Given the description of an element on the screen output the (x, y) to click on. 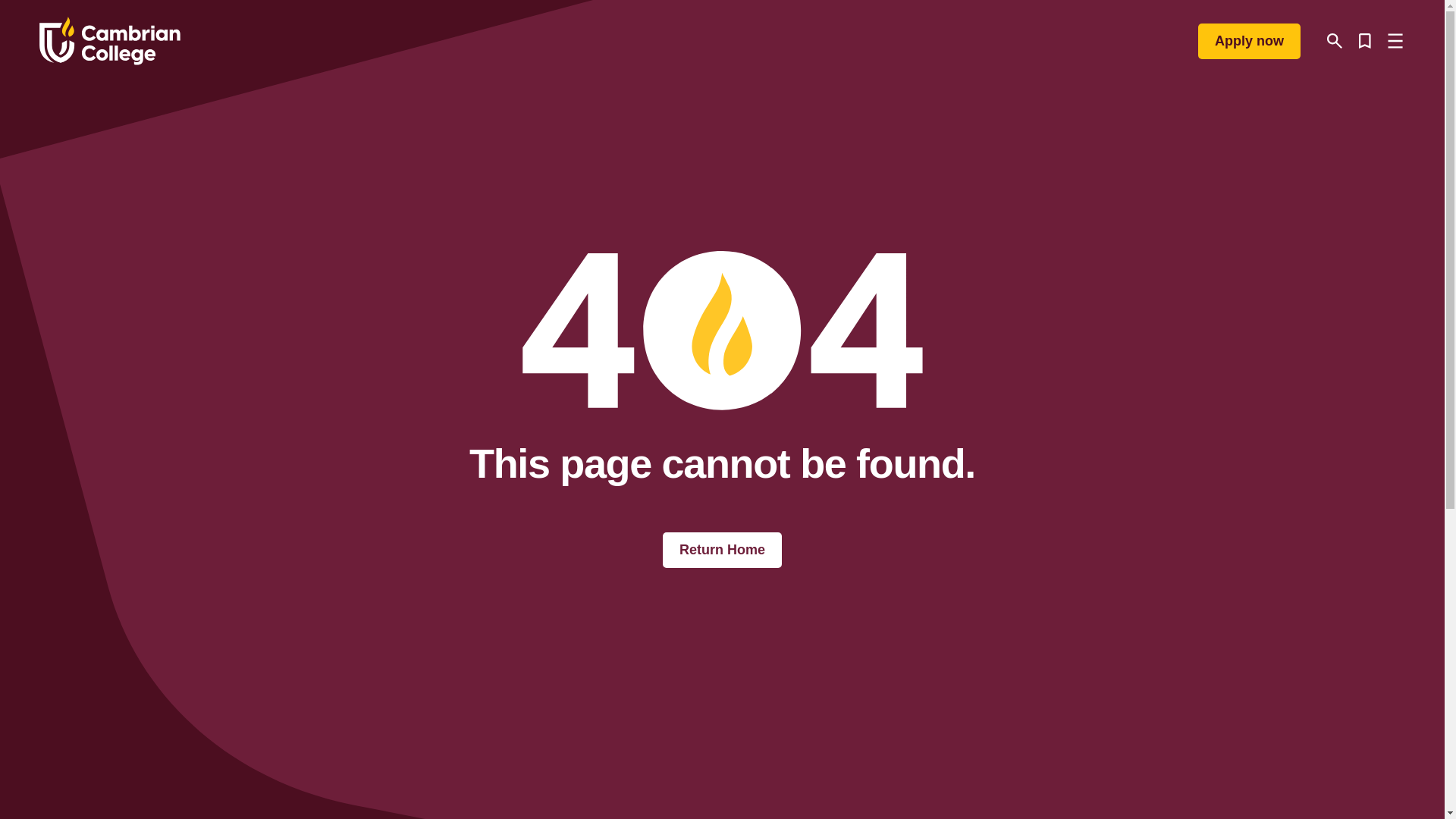
Search (1334, 40)
Return Home (721, 550)
Apply now (1249, 40)
Saved Programs (1364, 40)
Open Menu (1395, 40)
